Given the description of an element on the screen output the (x, y) to click on. 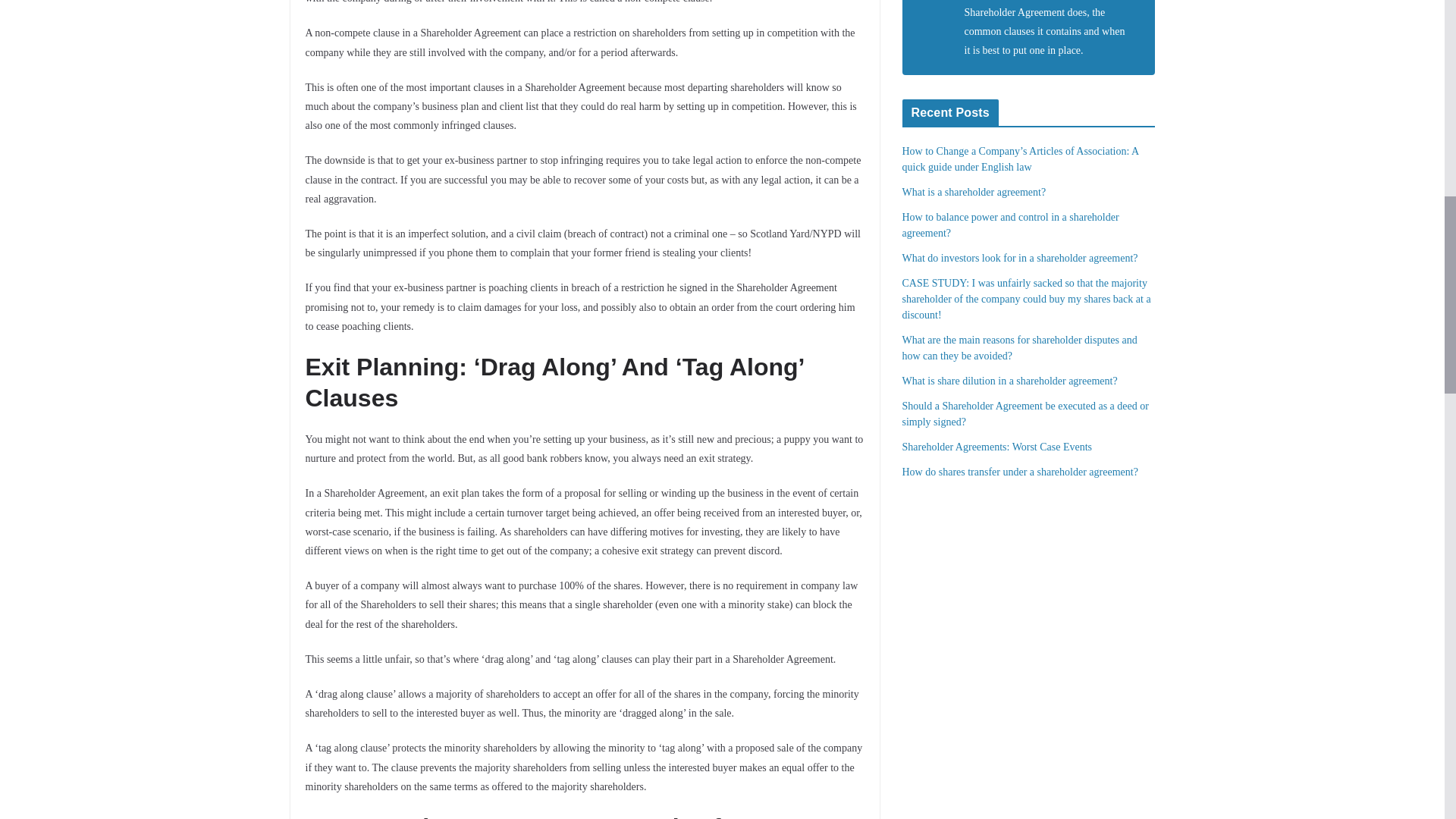
What is a shareholder agreement? (974, 192)
How to balance power and control in a shareholder agreement? (1010, 225)
What is share dilution in a shareholder agreement? (1010, 380)
Shareholder Agreements: Worst Case Events (997, 446)
What do investors look for in a shareholder agreement? (1020, 257)
How do shares transfer under a shareholder agreement? (1020, 471)
